Given the description of an element on the screen output the (x, y) to click on. 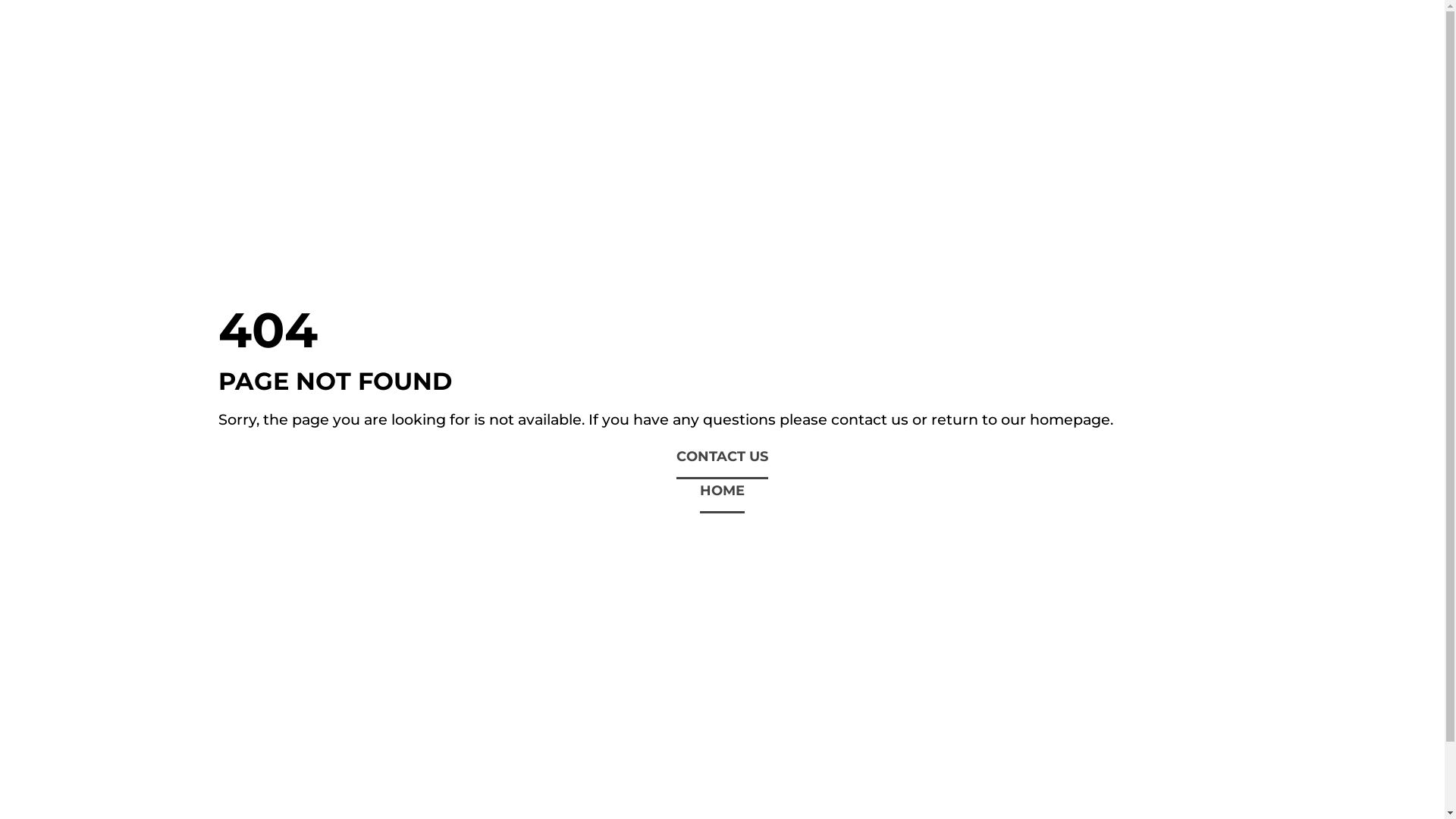
CONTACT US Element type: text (722, 464)
HOME Element type: text (721, 498)
